Given the description of an element on the screen output the (x, y) to click on. 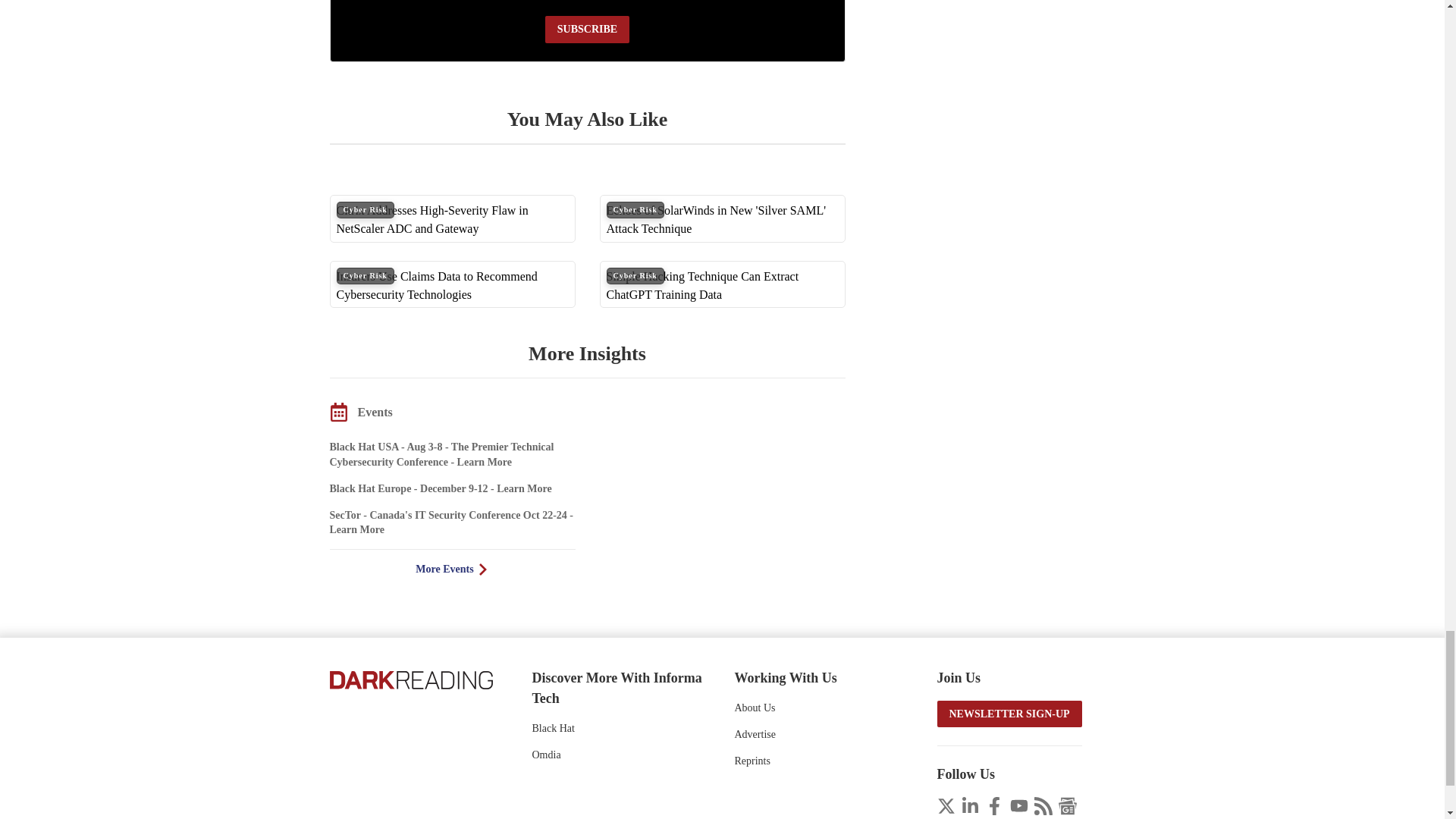
Logo (410, 678)
